Given the description of an element on the screen output the (x, y) to click on. 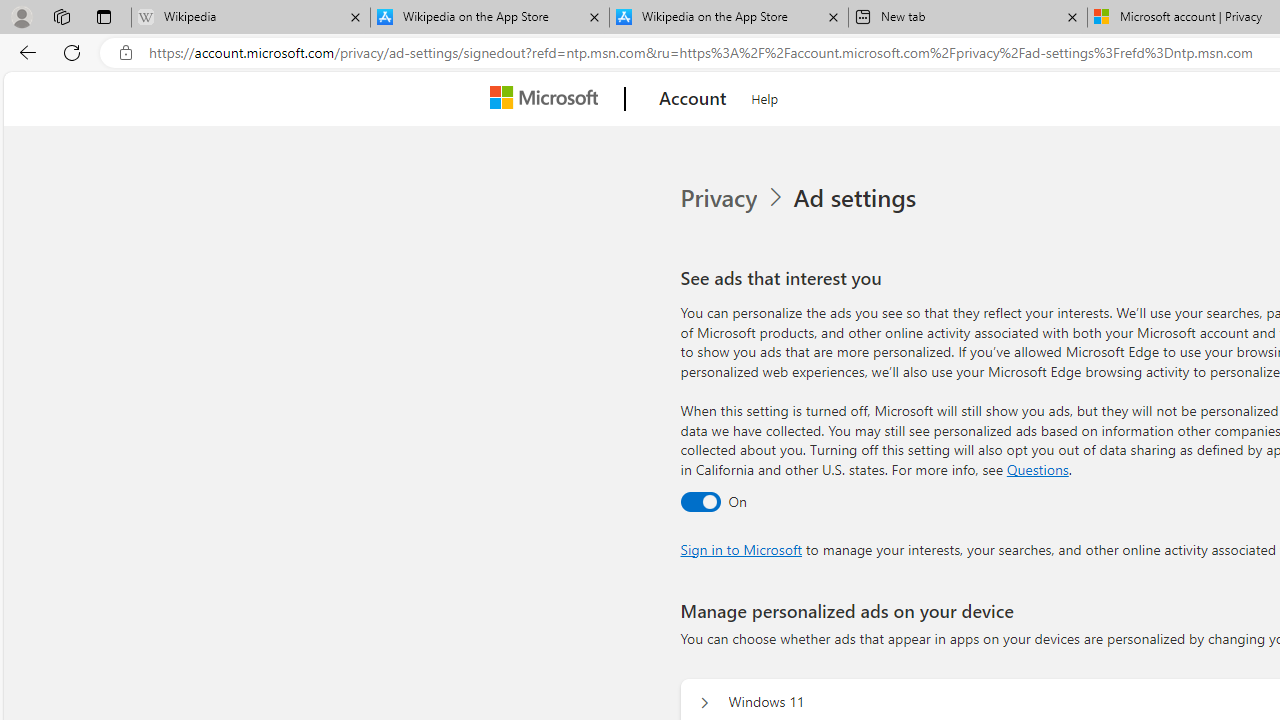
Go to Questions section (1037, 468)
Help (765, 96)
Privacy (720, 197)
Ad settings (858, 197)
Ad settings toggle (699, 501)
